Given the description of an element on the screen output the (x, y) to click on. 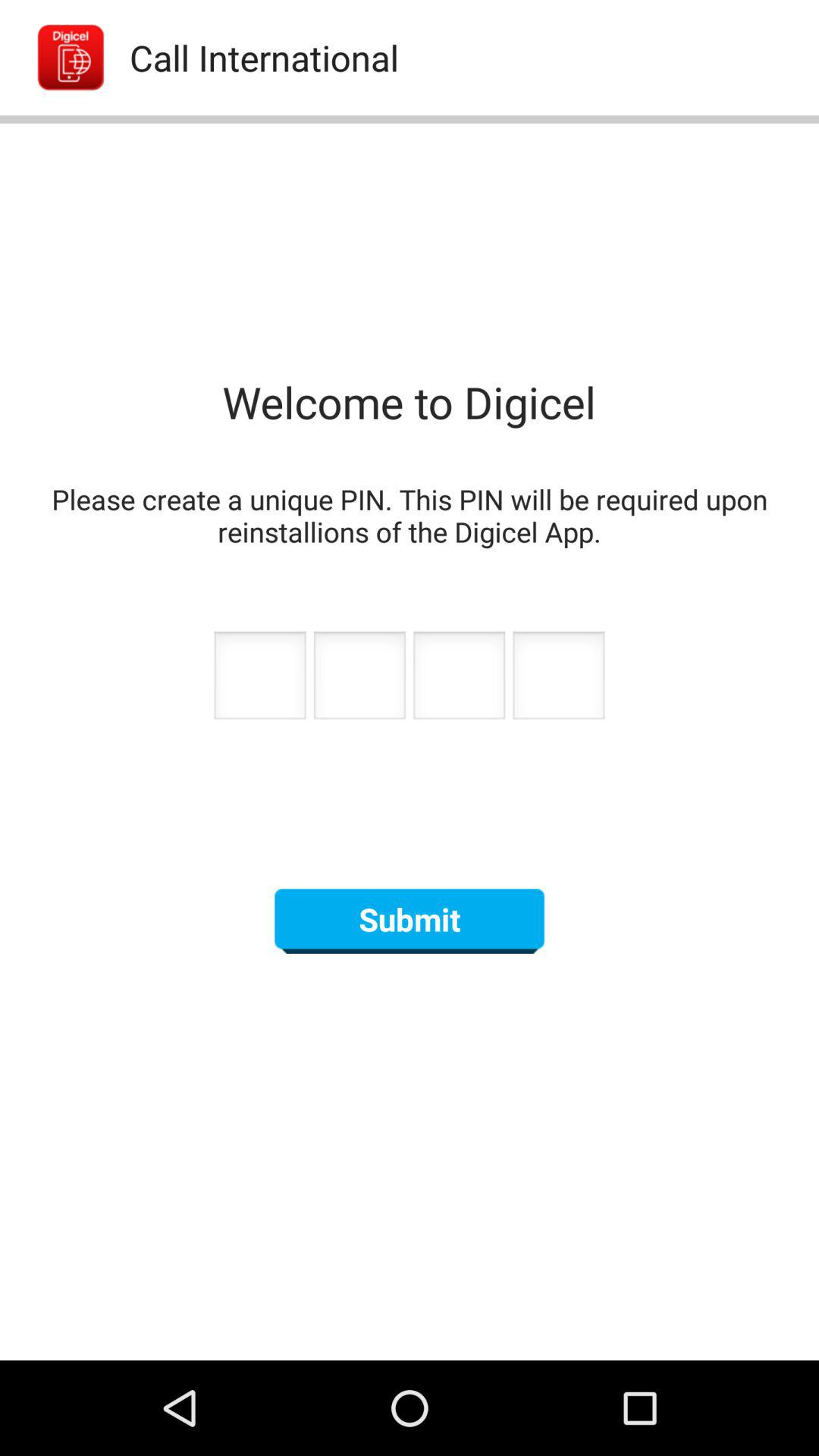
flip until the submit item (409, 920)
